Given the description of an element on the screen output the (x, y) to click on. 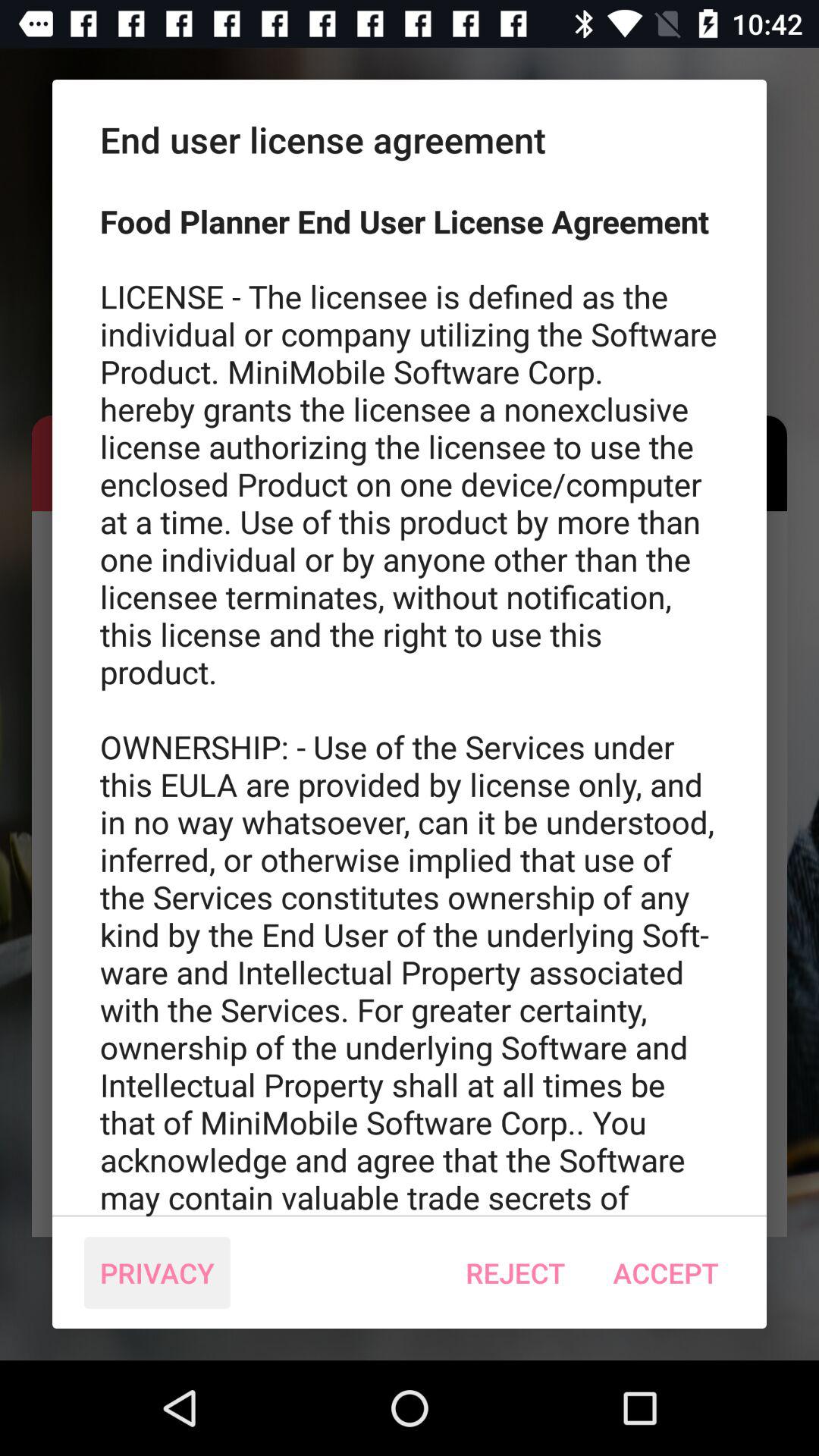
turn on icon next to privacy (515, 1272)
